Given the description of an element on the screen output the (x, y) to click on. 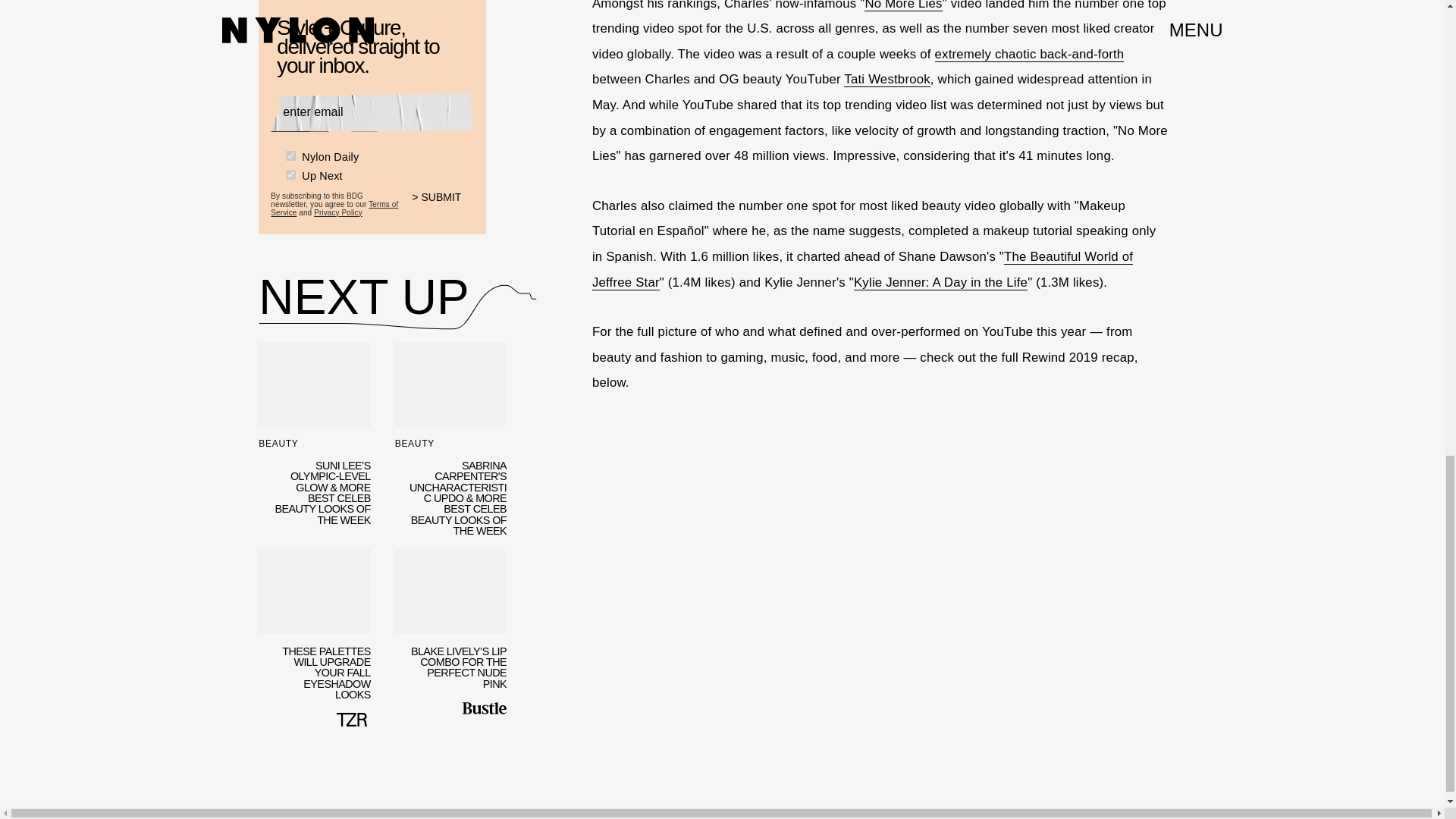
No More Lies (903, 5)
extremely chaotic back-and-forth (1029, 54)
Privacy Policy (338, 212)
Tati Westbrook (887, 79)
Kylie Jenner: A Day in the Life (940, 281)
SUBMIT (443, 205)
Terms of Service (333, 208)
The Beautiful World of Jeffree Star (862, 269)
